Given the description of an element on the screen output the (x, y) to click on. 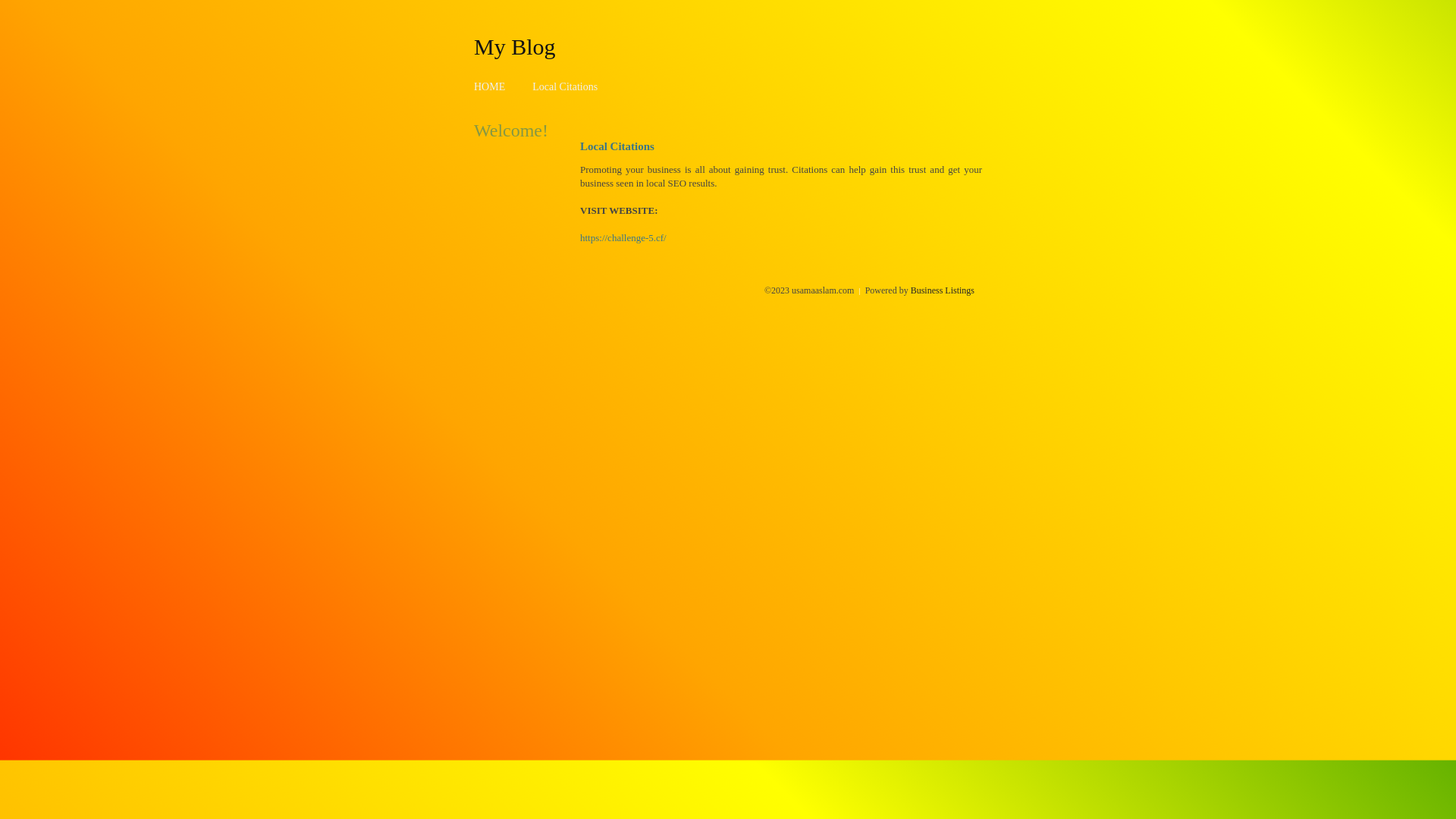
Business Listings Element type: text (942, 290)
HOME Element type: text (489, 86)
https://challenge-5.cf/ Element type: text (623, 237)
Local Citations Element type: text (564, 86)
My Blog Element type: text (514, 46)
